Given the description of an element on the screen output the (x, y) to click on. 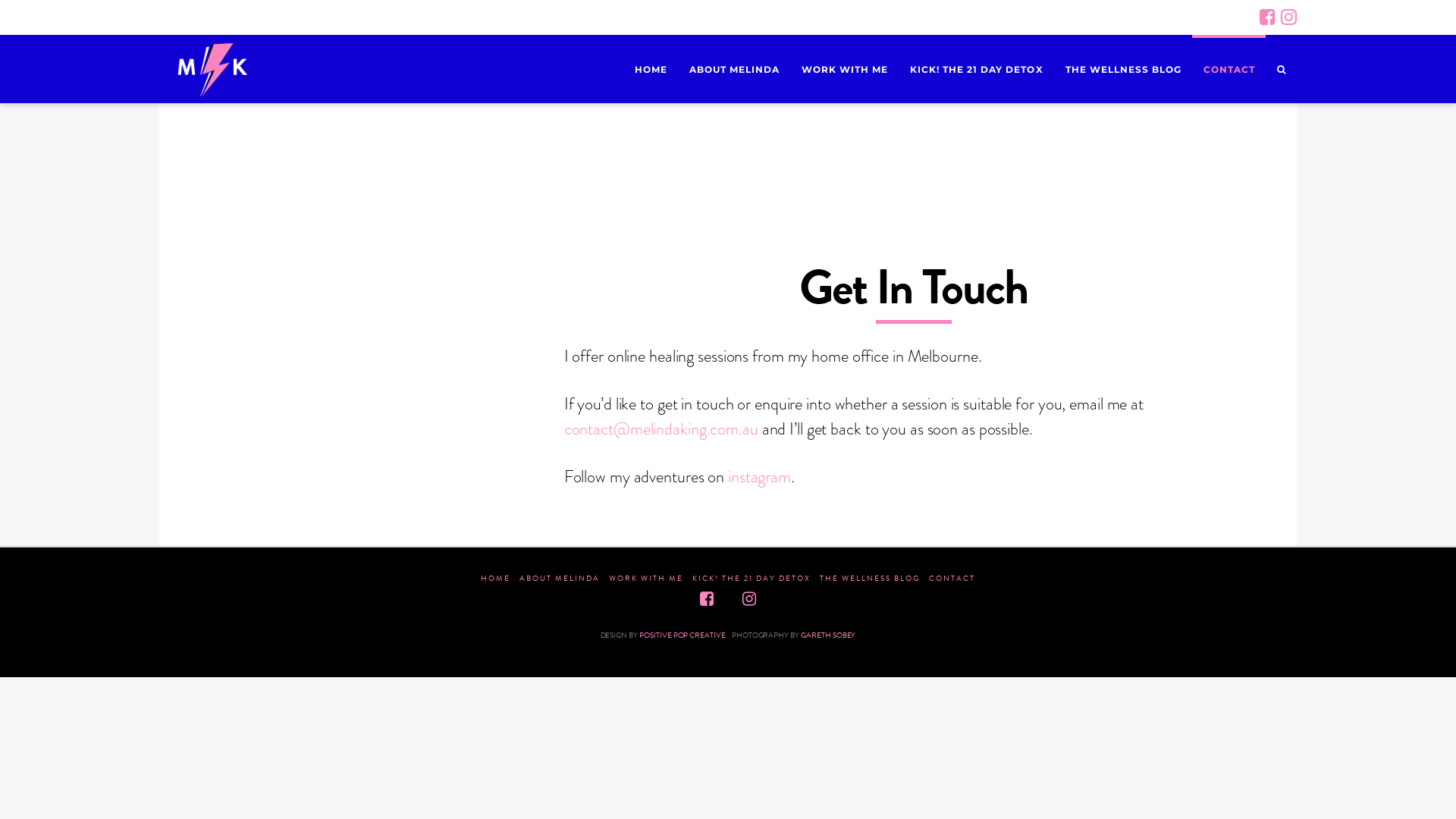
THE WELLNESS BLOG Element type: text (1123, 68)
GARETH SOBEY Element type: text (827, 634)
ABOUT MELINDA Element type: text (559, 578)
Instagram Element type: hover (1288, 16)
THE WELLNESS BLOG Element type: text (869, 578)
Facebook Element type: hover (1267, 16)
KICK! THE 21 DAY DETOX Element type: text (975, 68)
WORK WITH ME Element type: text (645, 578)
POSITIVE POP CREATIVE Element type: text (682, 634)
ABOUT MELINDA Element type: text (733, 68)
HOME Element type: text (495, 578)
CONTACT Element type: text (951, 578)
Facebook Element type: hover (706, 598)
KICK! THE 21 DAY DETOX Element type: text (751, 578)
Instagram Element type: hover (749, 598)
instagram Element type: text (759, 476)
contact@melindaking.com.au Element type: text (661, 428)
HOME Element type: text (650, 68)
WORK WITH ME Element type: text (844, 68)
CONTACT Element type: text (1228, 68)
